Given the description of an element on the screen output the (x, y) to click on. 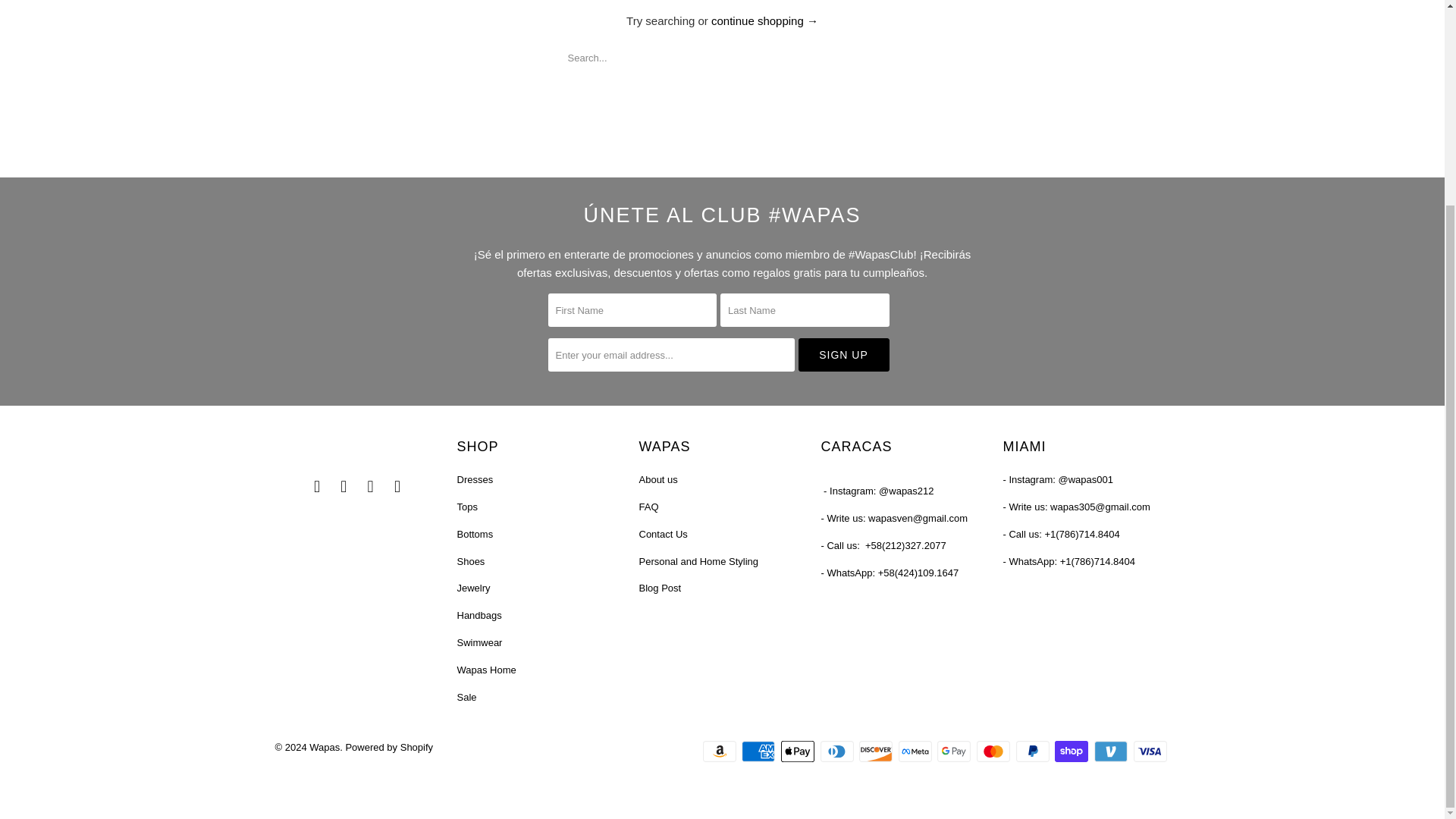
Amazon (721, 751)
Shop Pay (1072, 751)
Wapas on Instagram (370, 486)
American Express (759, 751)
Meta Pay (916, 751)
PayPal (1034, 751)
Sign Up (842, 354)
Discover (877, 751)
Diners Club (839, 751)
Email Wapas (398, 486)
Wapas on Facebook (317, 486)
Venmo (1112, 751)
Visa (1150, 751)
Mastercard (994, 751)
Apple Pay (798, 751)
